Given the description of an element on the screen output the (x, y) to click on. 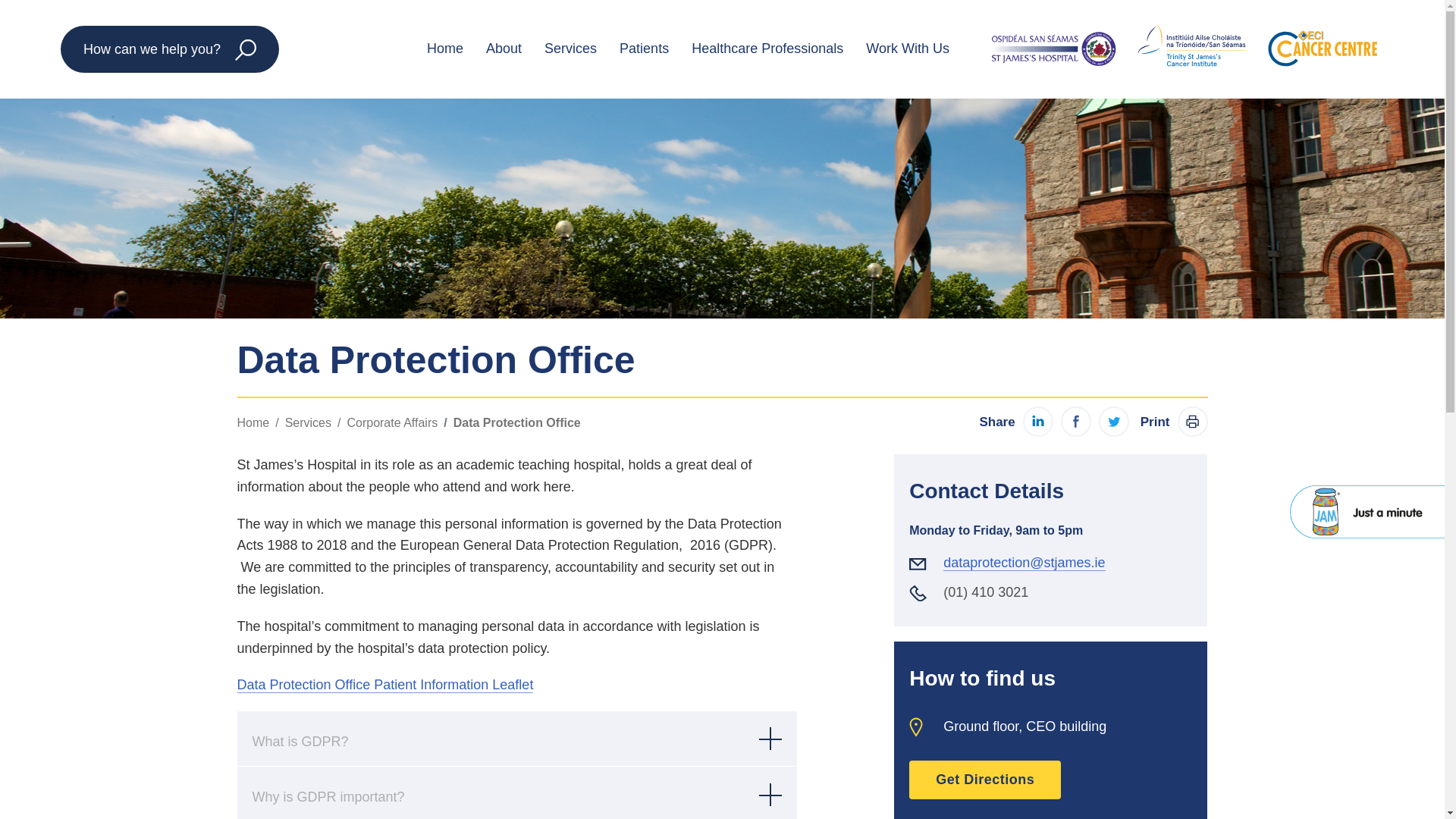
home page (1184, 49)
Services (570, 48)
Patients (643, 48)
About (503, 48)
Work With Us (907, 48)
Home (444, 48)
Healthcare Professionals (766, 48)
How can we help you? (170, 48)
